Given the description of an element on the screen output the (x, y) to click on. 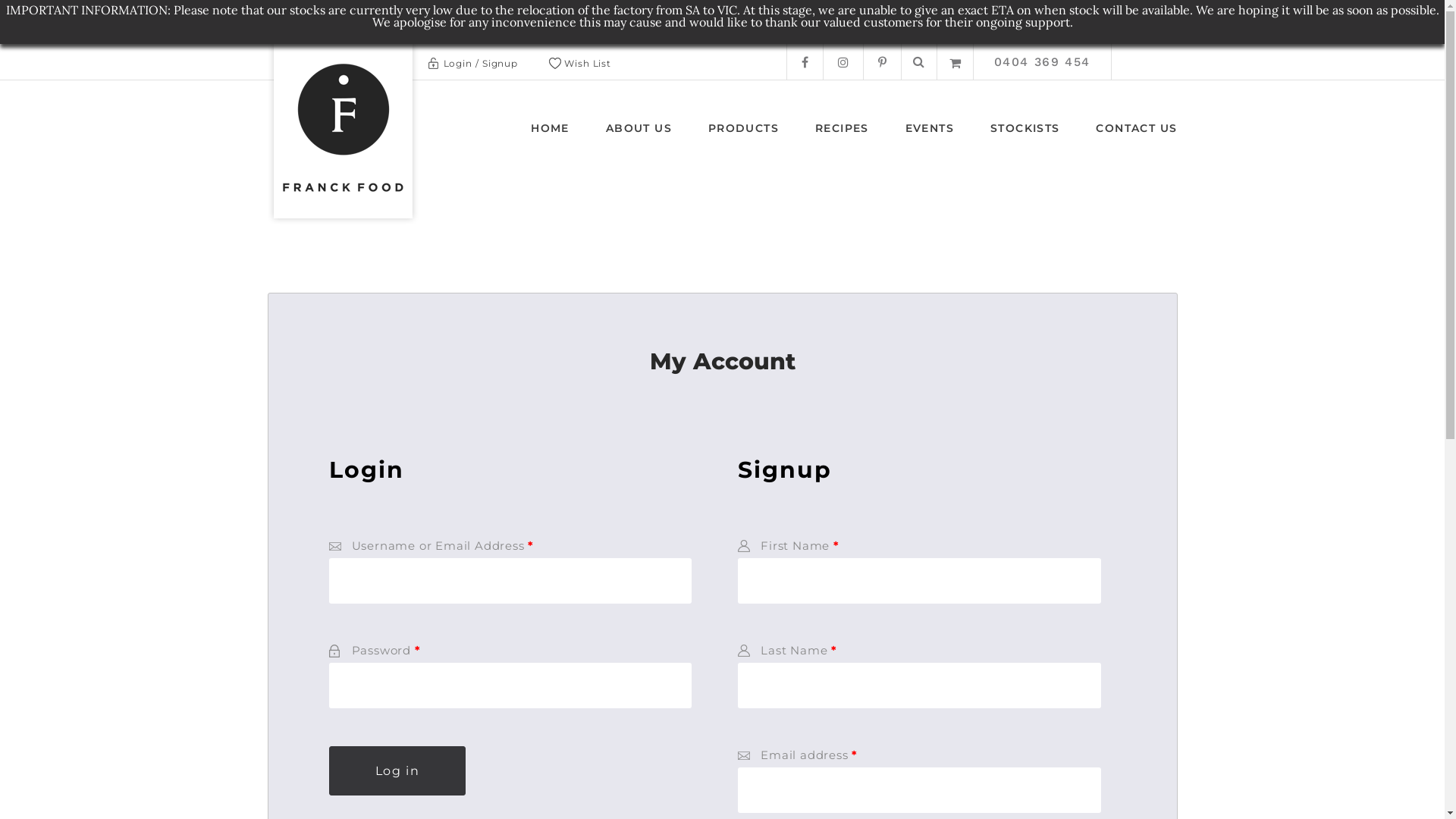
ABOUT US Element type: text (638, 133)
Log in Element type: text (397, 770)
CONTACT US Element type: text (1135, 133)
RECIPES Element type: text (842, 133)
Wish List Element type: text (587, 63)
Instagram Element type: text (842, 61)
Login / Signup Element type: text (479, 63)
EVENTS Element type: text (929, 133)
HOME Element type: text (549, 133)
Cart Element type: hover (955, 61)
Pinterest Element type: text (881, 61)
PRODUCTS Element type: text (743, 133)
Facebook Element type: text (804, 61)
STOCKISTS Element type: text (1025, 133)
